Given the description of an element on the screen output the (x, y) to click on. 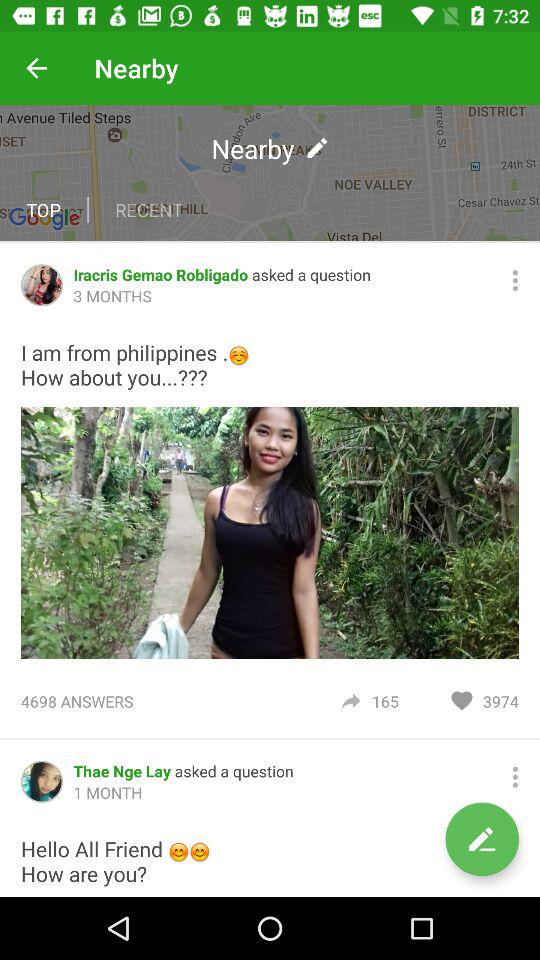
turn on item below nearby (148, 209)
